Given the description of an element on the screen output the (x, y) to click on. 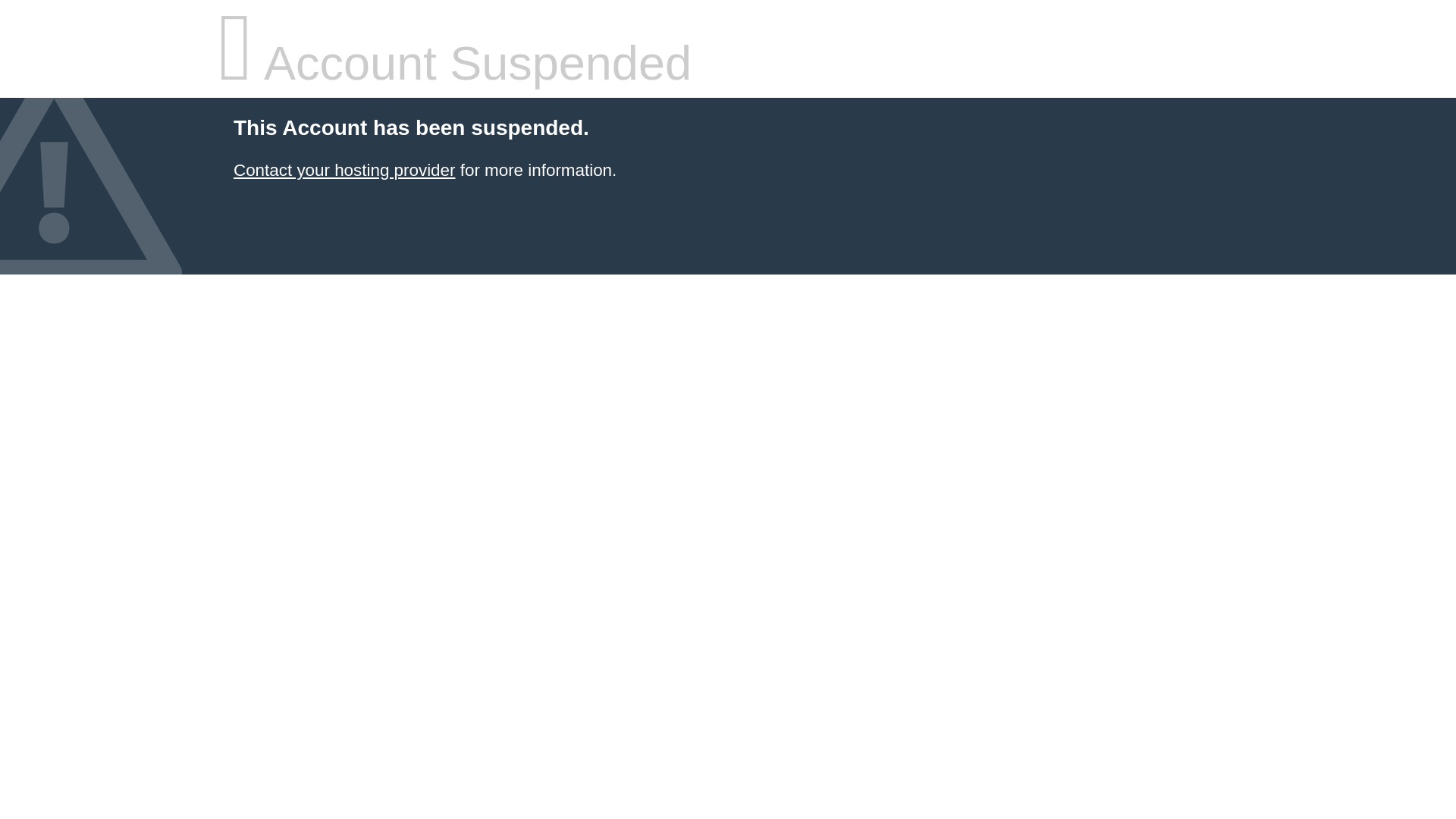
Contact your hosting provider (343, 169)
